Given the description of an element on the screen output the (x, y) to click on. 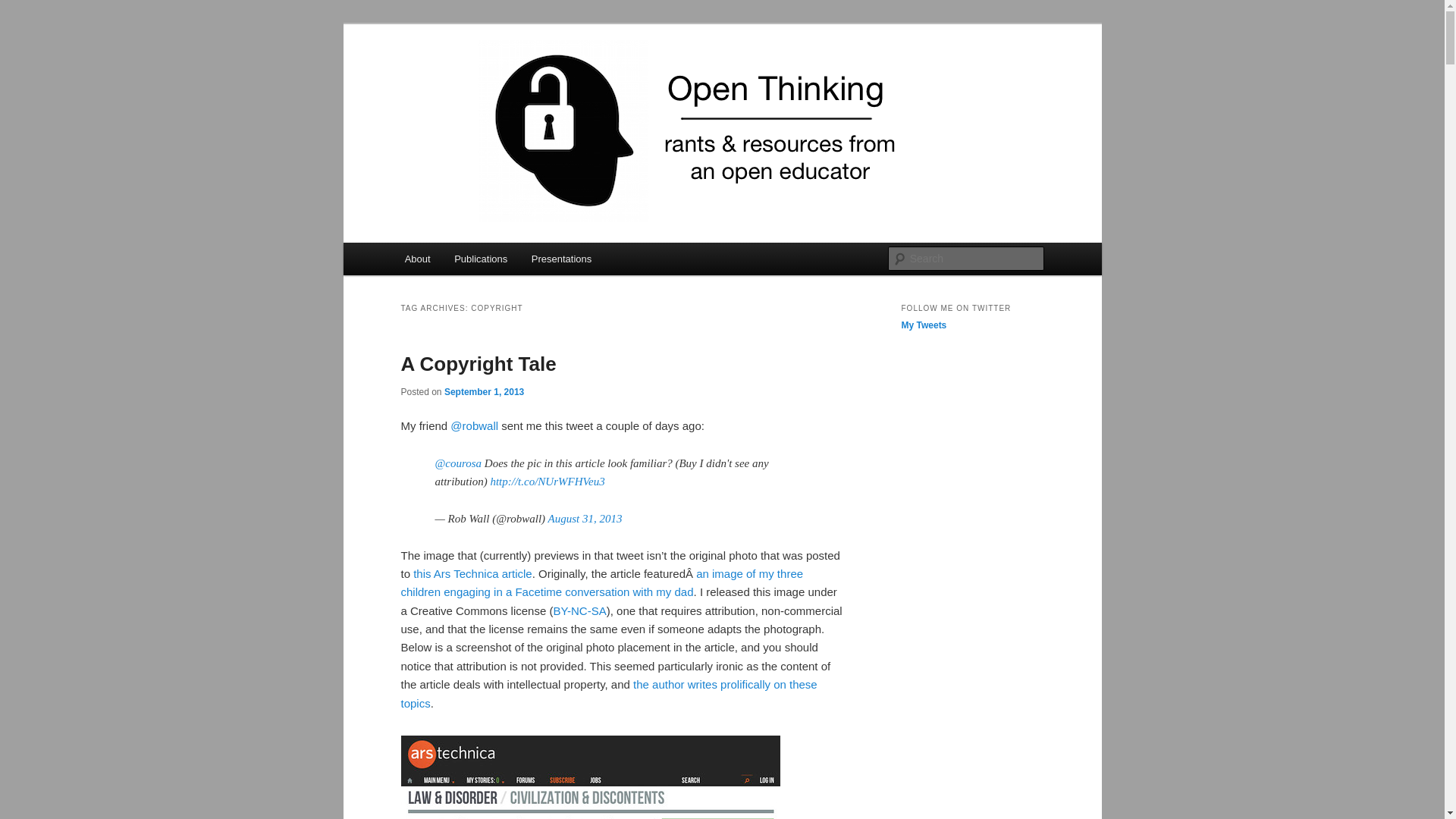
open thinking (475, 78)
About (417, 258)
the author writes prolifically on these topics (608, 693)
this Ars Technica article (472, 573)
Presentations (561, 258)
September 1, 2013 (484, 391)
A Copyright Tale (478, 363)
BY-NC-SA (579, 610)
